Given the description of an element on the screen output the (x, y) to click on. 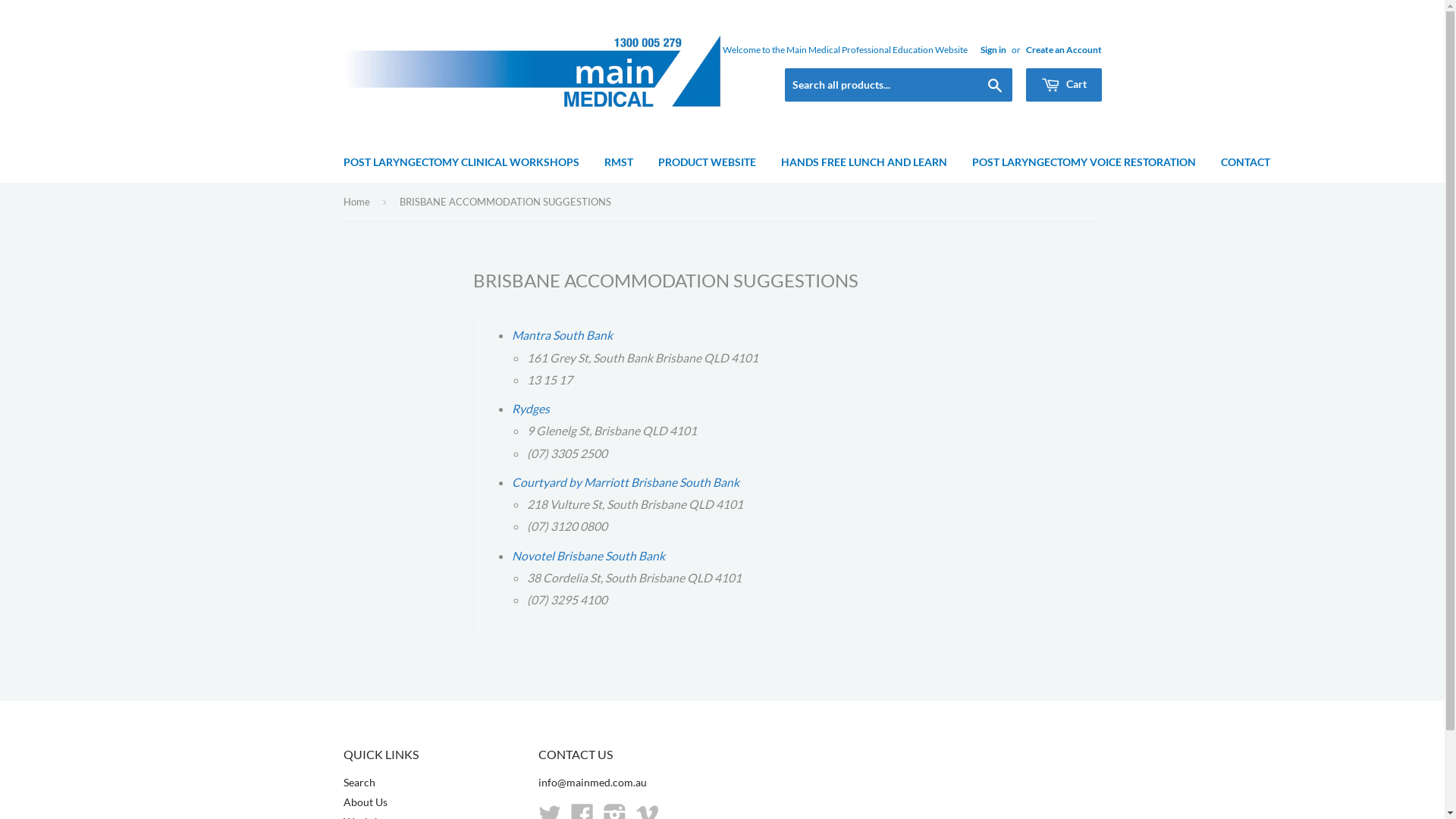
POST LARYNGECTOMY CLINICAL WORKSHOPS Element type: text (461, 162)
Sign in Element type: text (992, 49)
Courtyard by Marriott Brisbane South Bank Element type: text (625, 481)
RMST Element type: text (618, 162)
HANDS FREE LUNCH AND LEARN Element type: text (862, 162)
POST LARYNGECTOMY VOICE RESTORATION Element type: text (1083, 162)
Cart Element type: text (1063, 84)
Search Element type: text (358, 781)
Create an Account Element type: text (1063, 49)
Mantra South Bank  Element type: text (563, 334)
CONTACT Element type: text (1244, 162)
Home Element type: text (358, 201)
About Us Element type: text (364, 801)
PRODUCT WEBSITE Element type: text (706, 162)
Novotel Brisbane South Bank Element type: text (588, 555)
Rydges Element type: text (530, 408)
Search Element type: text (995, 85)
